Given the description of an element on the screen output the (x, y) to click on. 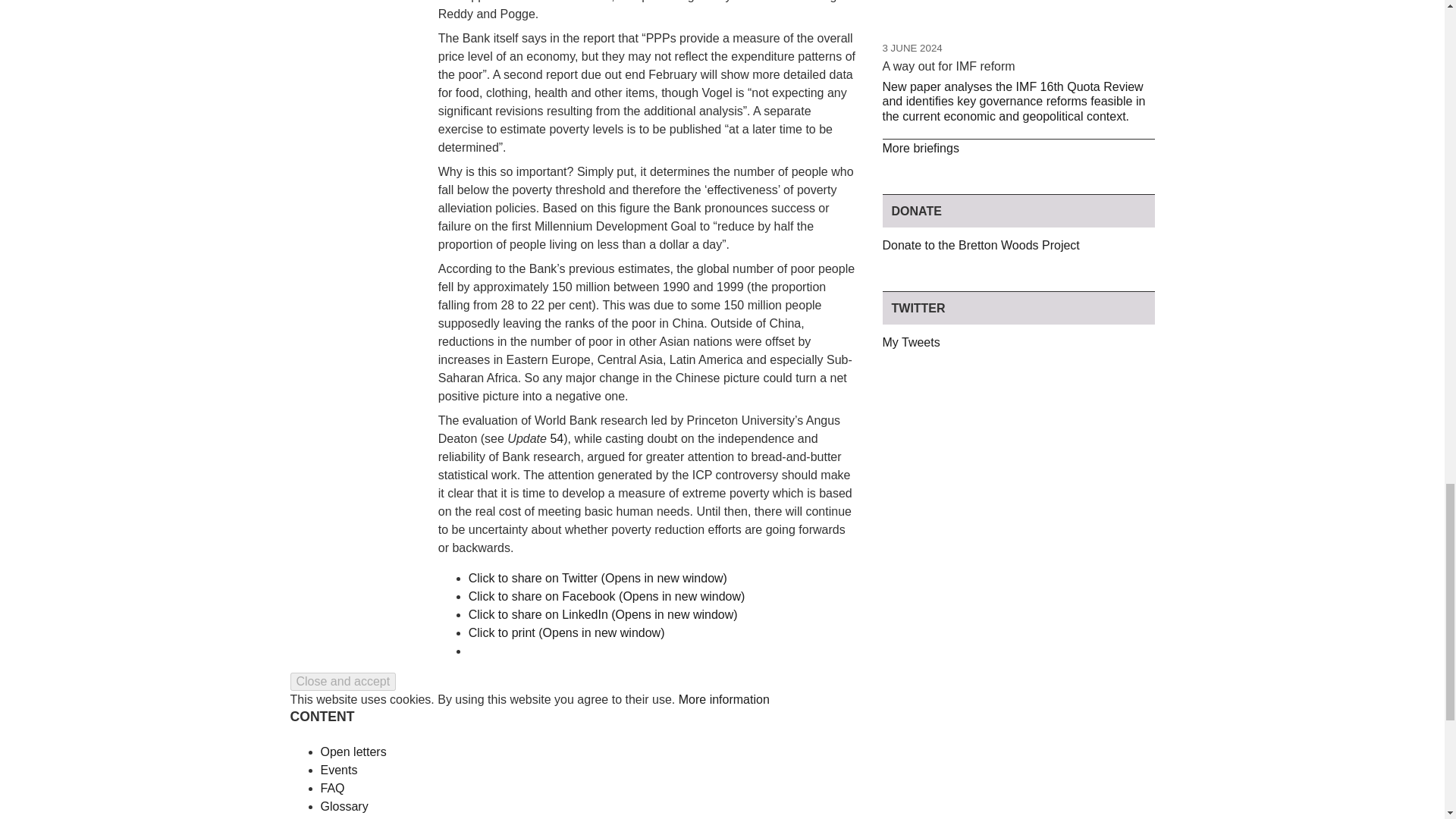
Close and accept (342, 681)
Click to share on Twitter (597, 577)
Click to print (566, 632)
Click to share on Facebook (606, 595)
Click to share on LinkedIn (603, 614)
